Given the description of an element on the screen output the (x, y) to click on. 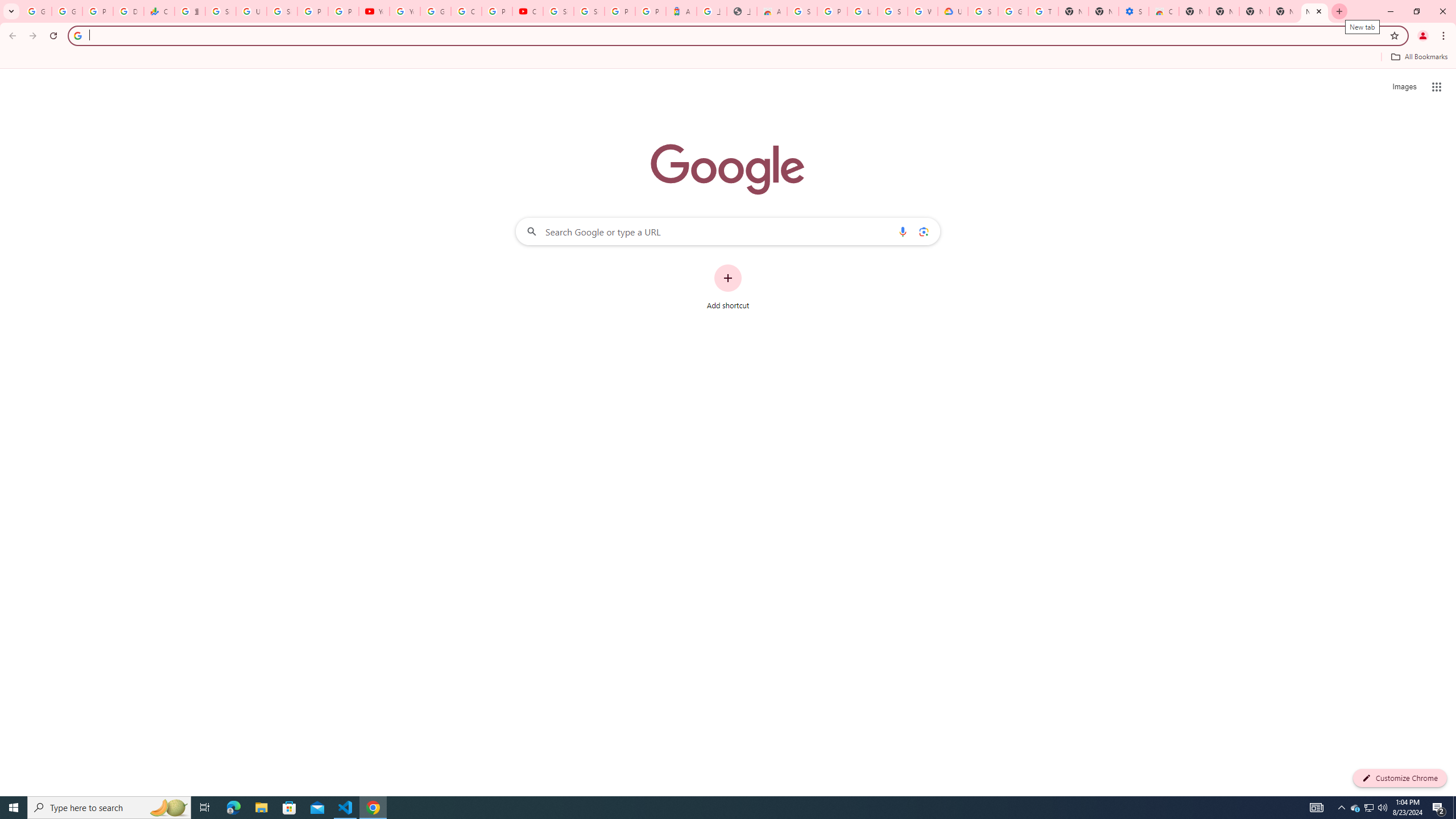
Turn cookies on or off - Computer - Google Account Help (1042, 11)
Google Account Help (1012, 11)
New Tab (1193, 11)
Who are Google's partners? - Privacy and conditions - Google (922, 11)
Settings - Accessibility (1133, 11)
YouTube (373, 11)
